Given the description of an element on the screen output the (x, y) to click on. 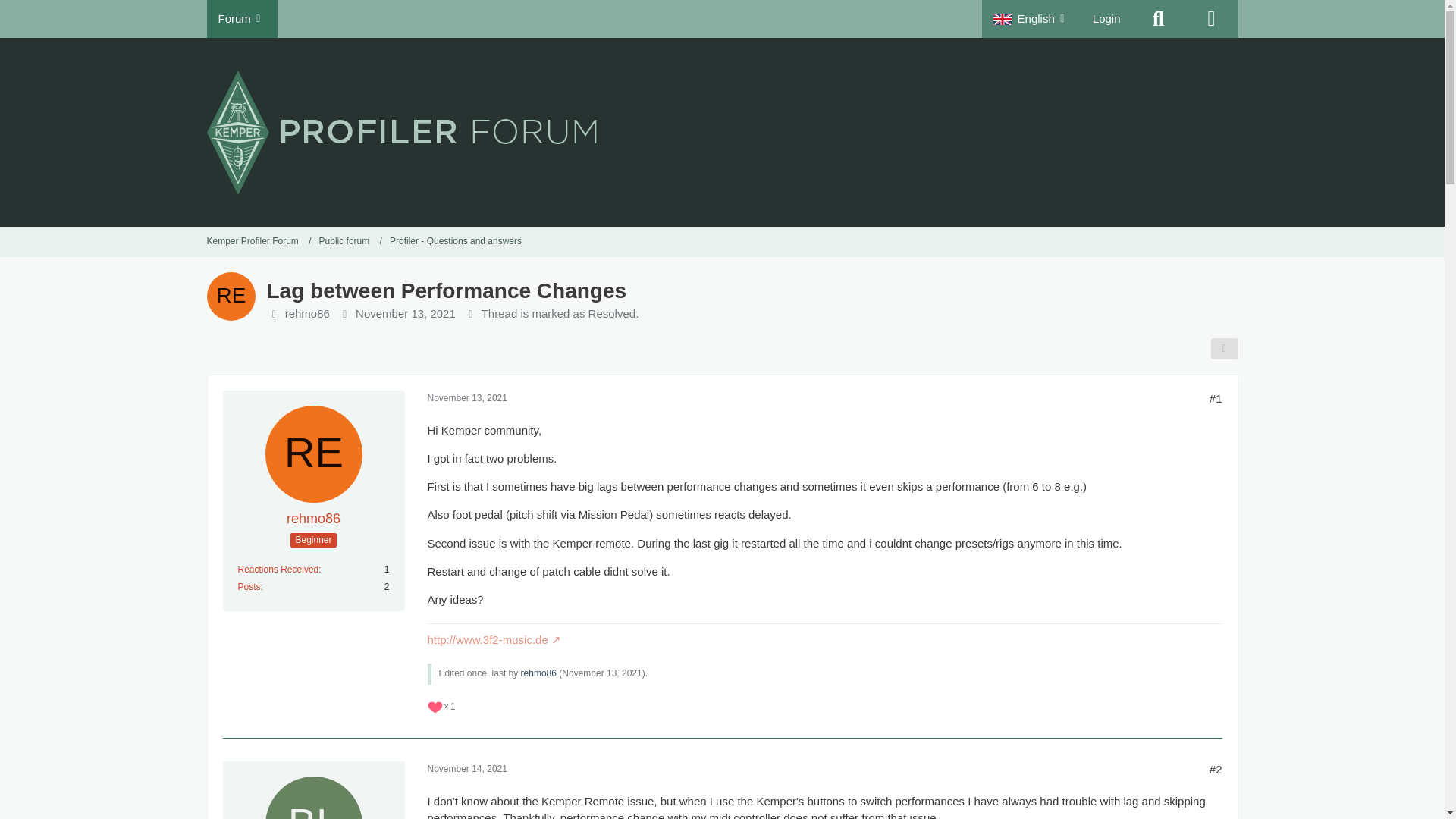
Kemper Profiler Forum (258, 241)
November 13, 2021November 13, 2021 at 3:15 PM (467, 398)
Public forum (343, 241)
Login (1106, 18)
Public forum (349, 241)
rehmo86 (313, 518)
1 (441, 707)
Reactions Received (278, 569)
November 13, 2021November 13, 2021 at 3:15 PM (405, 313)
rehmo86 (307, 313)
